Given the description of an element on the screen output the (x, y) to click on. 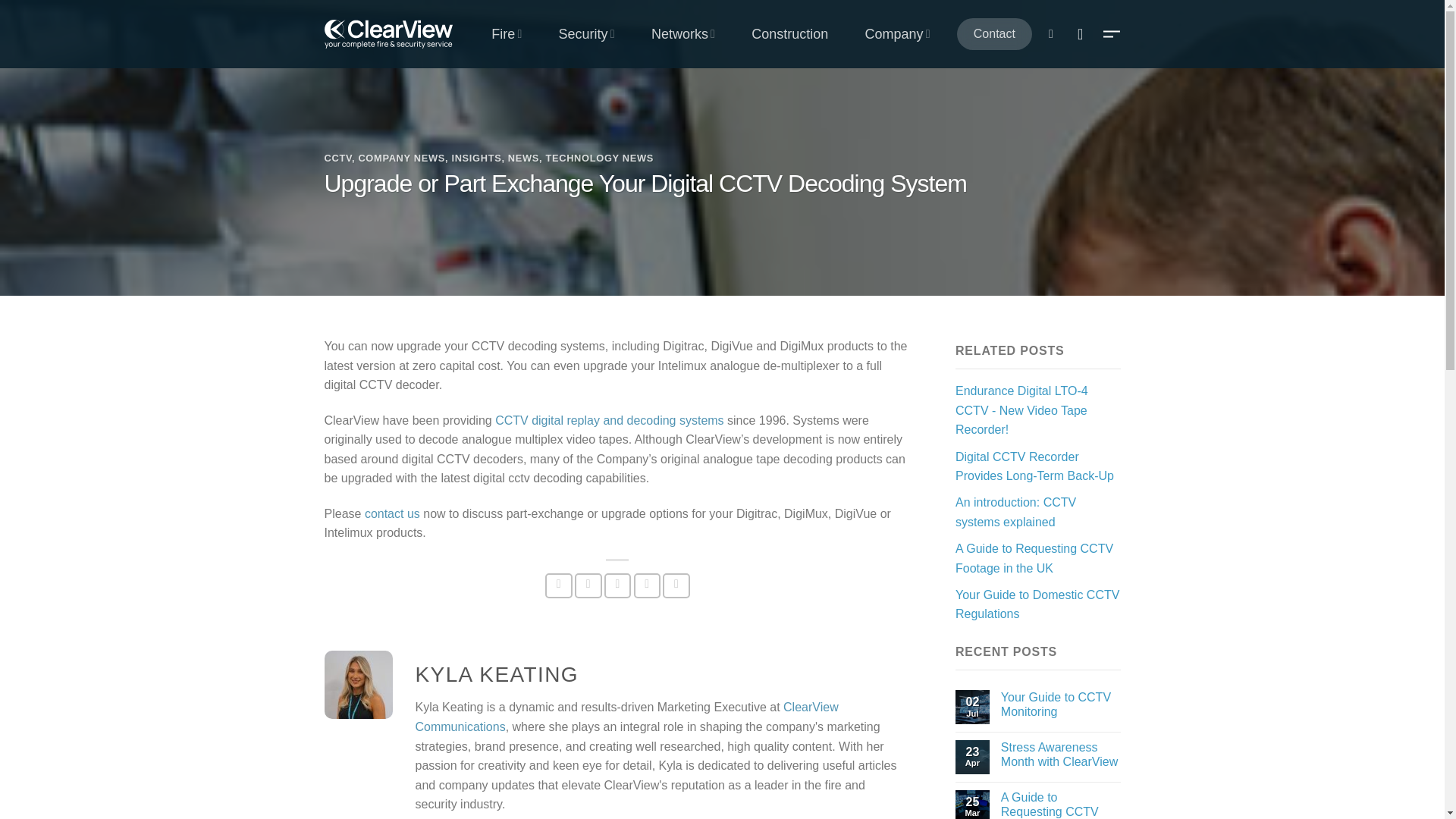
Share on Twitter (588, 585)
Share on Facebook (558, 585)
Pin on Pinterest (647, 585)
Share on LinkedIn (676, 585)
A Guide to Requesting CCTV Footage in the UK (1061, 804)
Your Guide to CCTV Monitoring (1061, 704)
Stress Awareness Month with ClearView (1061, 754)
Email to a Friend (617, 585)
